Given the description of an element on the screen output the (x, y) to click on. 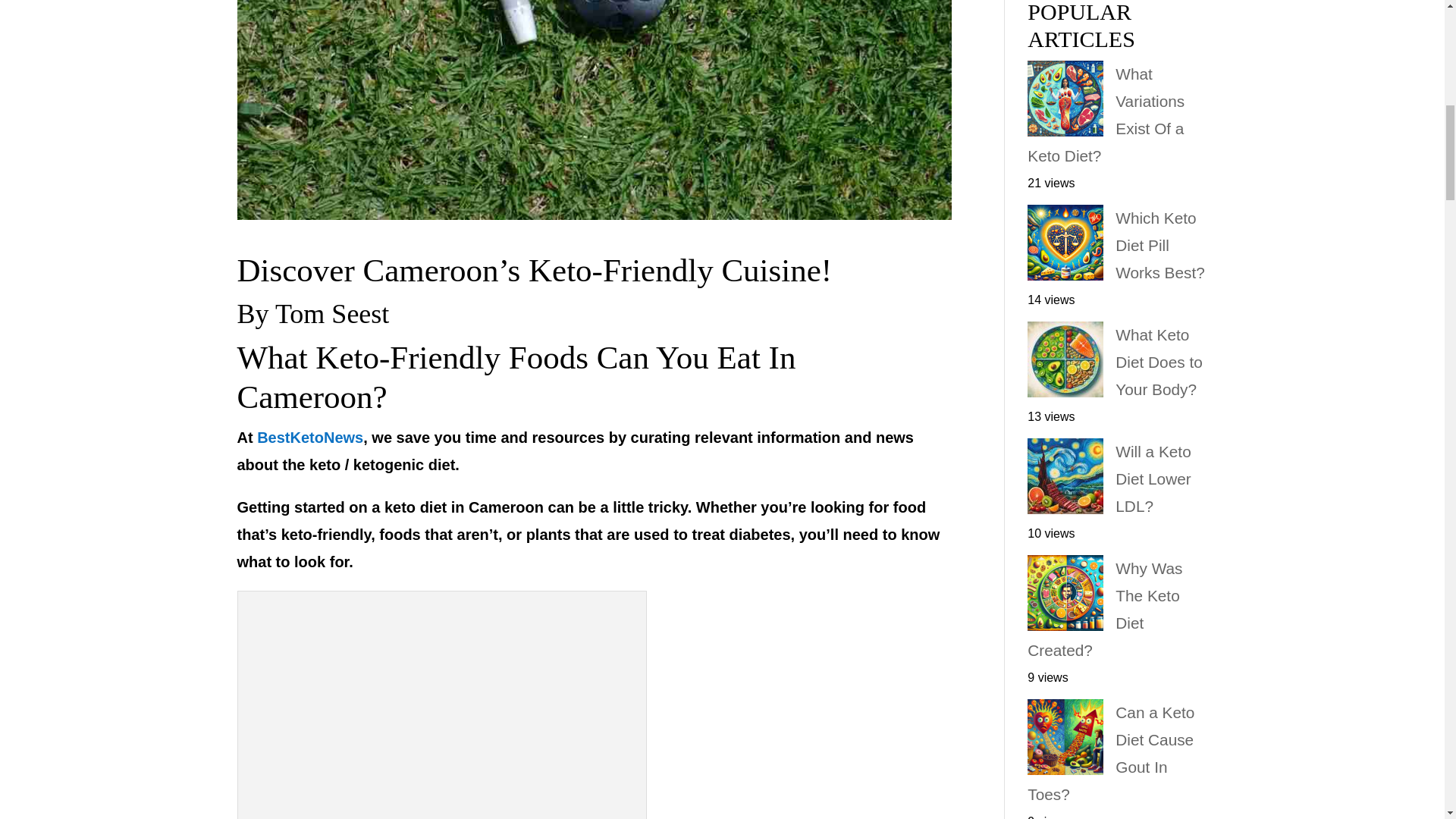
What Keto-Friendly Foods Can You Eat In Cameroon? (514, 376)
Tom Seest (331, 313)
What Keto-Friendly Foods Can You Eat In Cameroon? (442, 708)
